Given the description of an element on the screen output the (x, y) to click on. 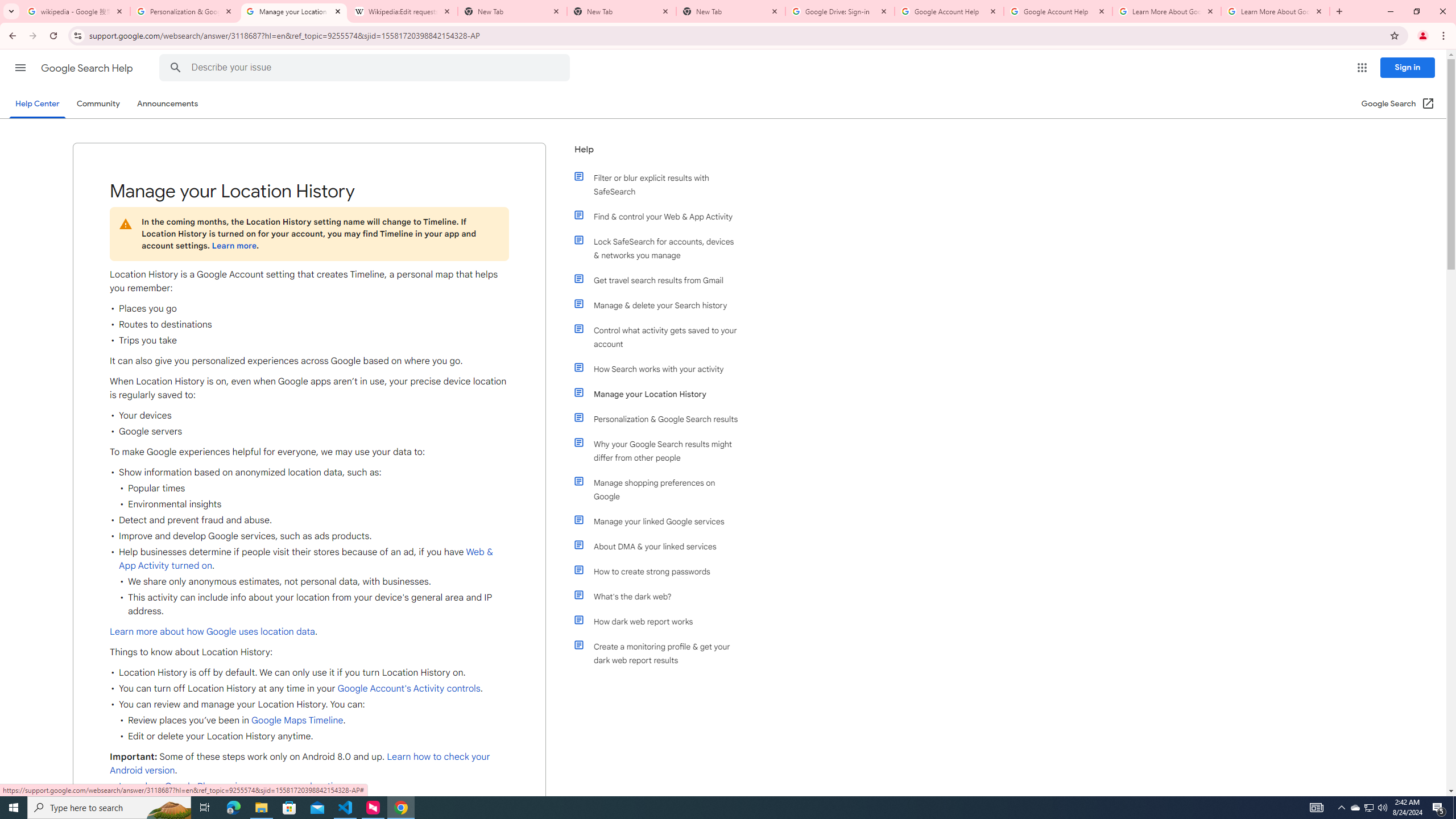
Learn more about how Google uses location data (211, 631)
